Given the description of an element on the screen output the (x, y) to click on. 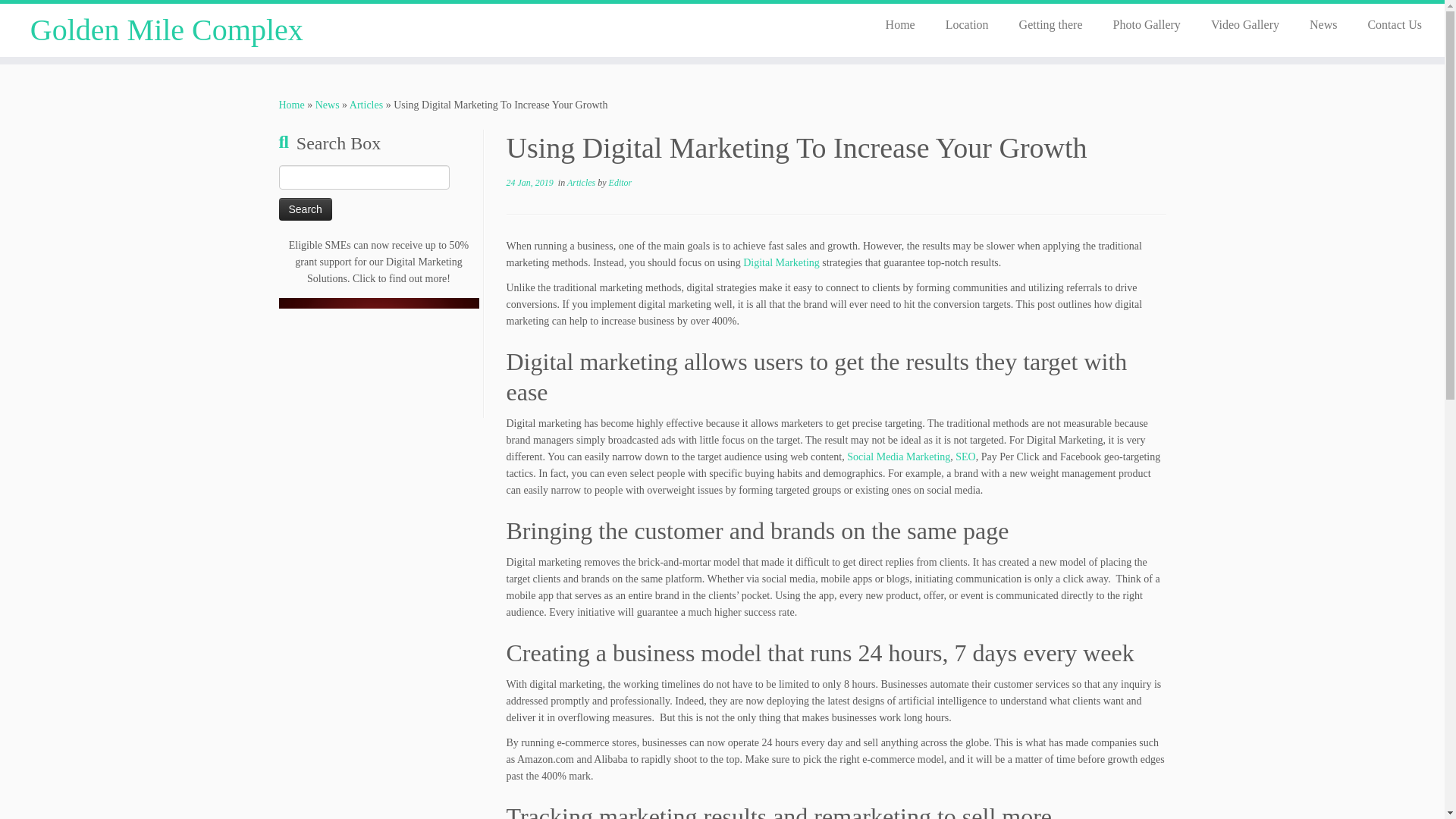
Search (305, 209)
Articles (581, 182)
News (327, 104)
Golden Mile Complex (166, 30)
Getting there (1050, 24)
Digital Marketing Agency Singapore (379, 357)
Home (900, 24)
Photo Gallery (1146, 24)
SEO (965, 456)
